Given the description of an element on the screen output the (x, y) to click on. 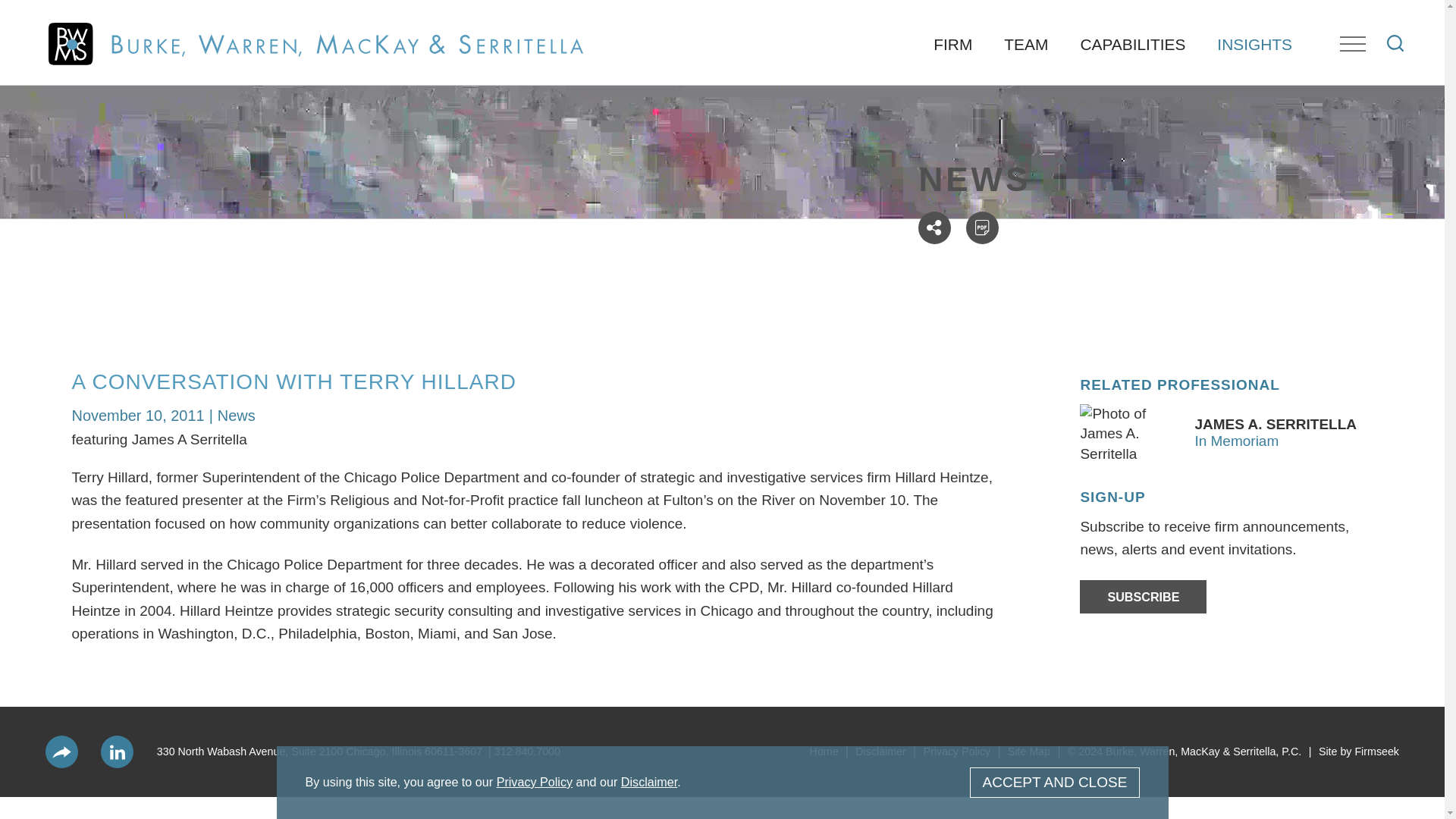
Share (934, 227)
Search (1395, 43)
TEAM (1026, 44)
CAPABILITIES (1132, 44)
Share (61, 751)
INSIGHTS (1254, 44)
Main Menu (674, 19)
LinkedIn (116, 751)
FIRM (952, 44)
Menu (1352, 43)
Main Content (667, 19)
PDF (982, 227)
Menu (674, 19)
